Given the description of an element on the screen output the (x, y) to click on. 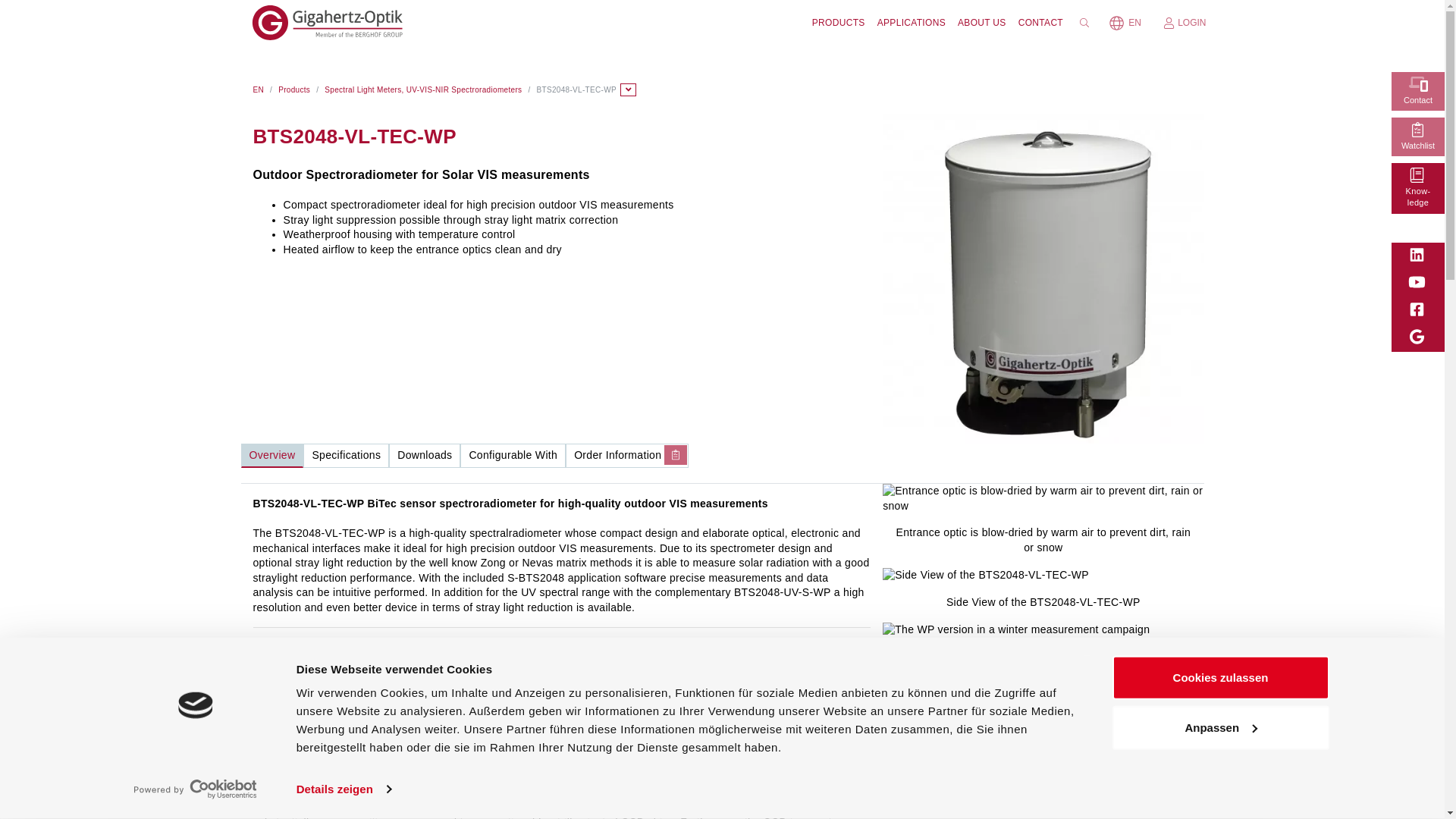
Cookies zulassen (1219, 678)
Anpassen (1219, 727)
Details zeigen (344, 789)
